Given the description of an element on the screen output the (x, y) to click on. 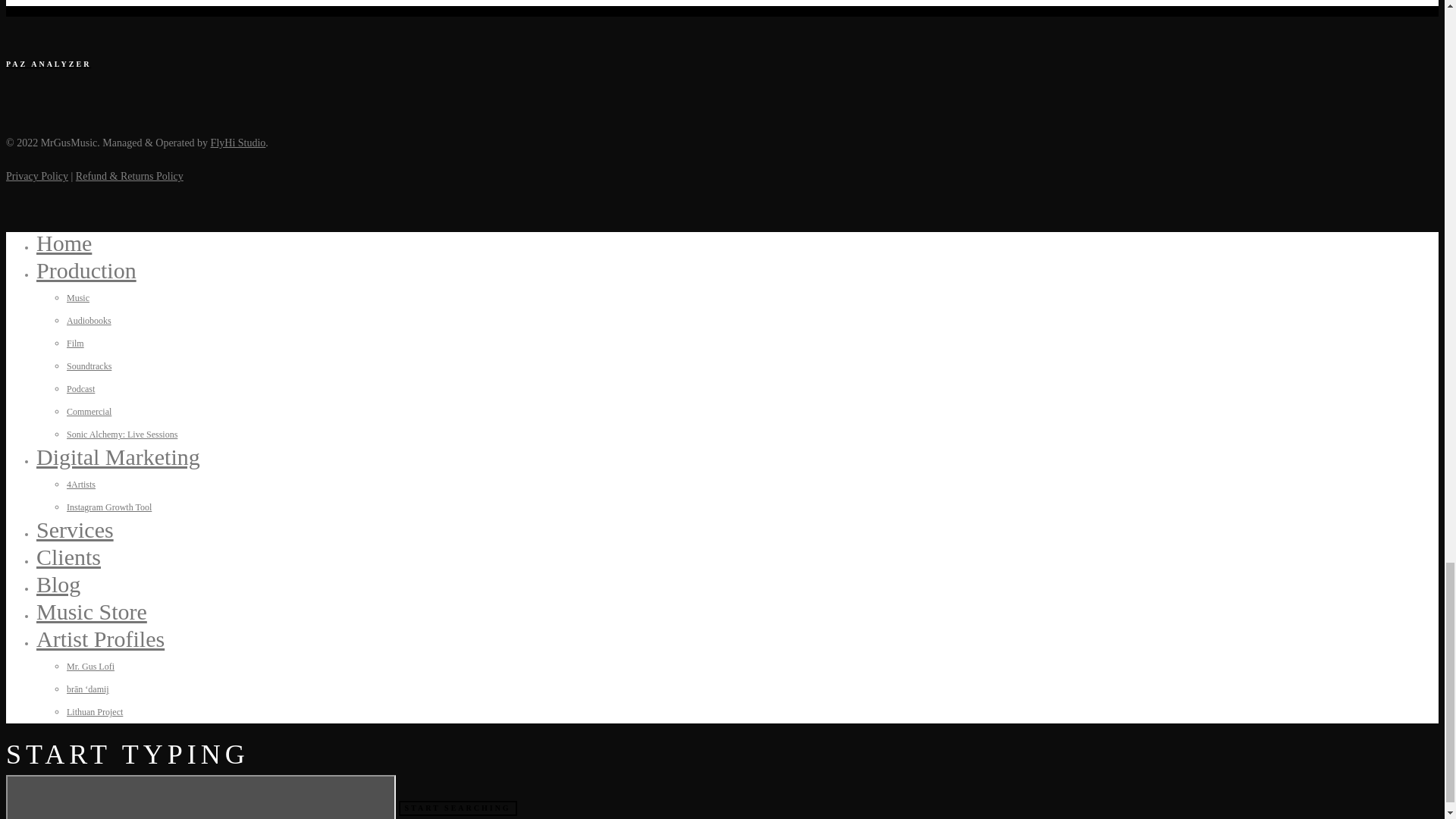
Audiobooks (89, 320)
Film (75, 343)
Start Searching (457, 807)
Privacy Policy (36, 175)
FlyHi Studio (238, 142)
Production (86, 269)
Music (77, 297)
Start Searching (457, 807)
Home (63, 242)
